Given the description of an element on the screen output the (x, y) to click on. 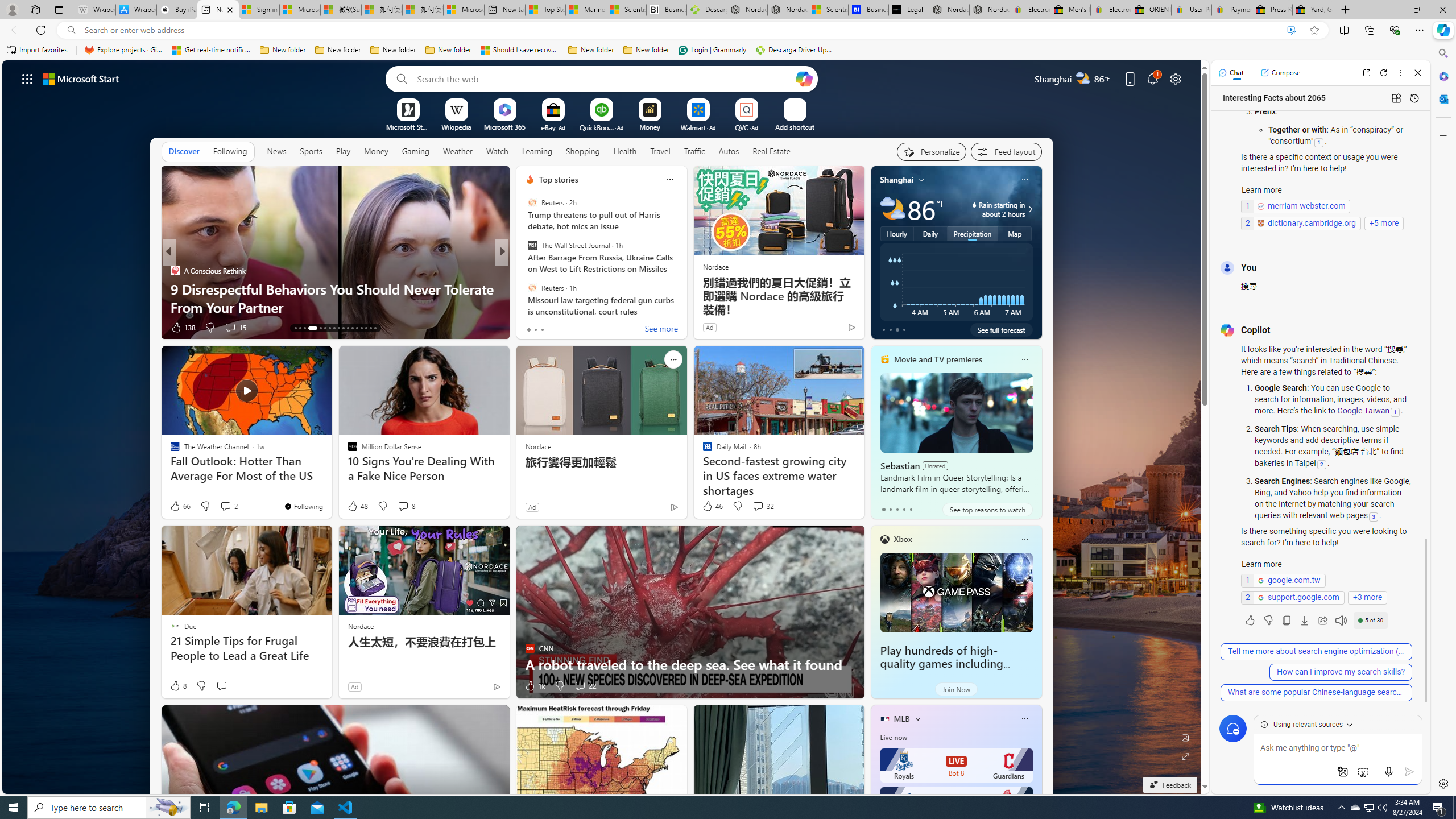
3 Like (529, 327)
See full forecast (1000, 329)
This story is trending (829, 329)
See top reasons to watch (987, 509)
Tasting Table (524, 270)
7 Like (529, 327)
Microsoft start (81, 78)
AutomationID: tab-20 (333, 328)
Business Insider (174, 270)
